Given the description of an element on the screen output the (x, y) to click on. 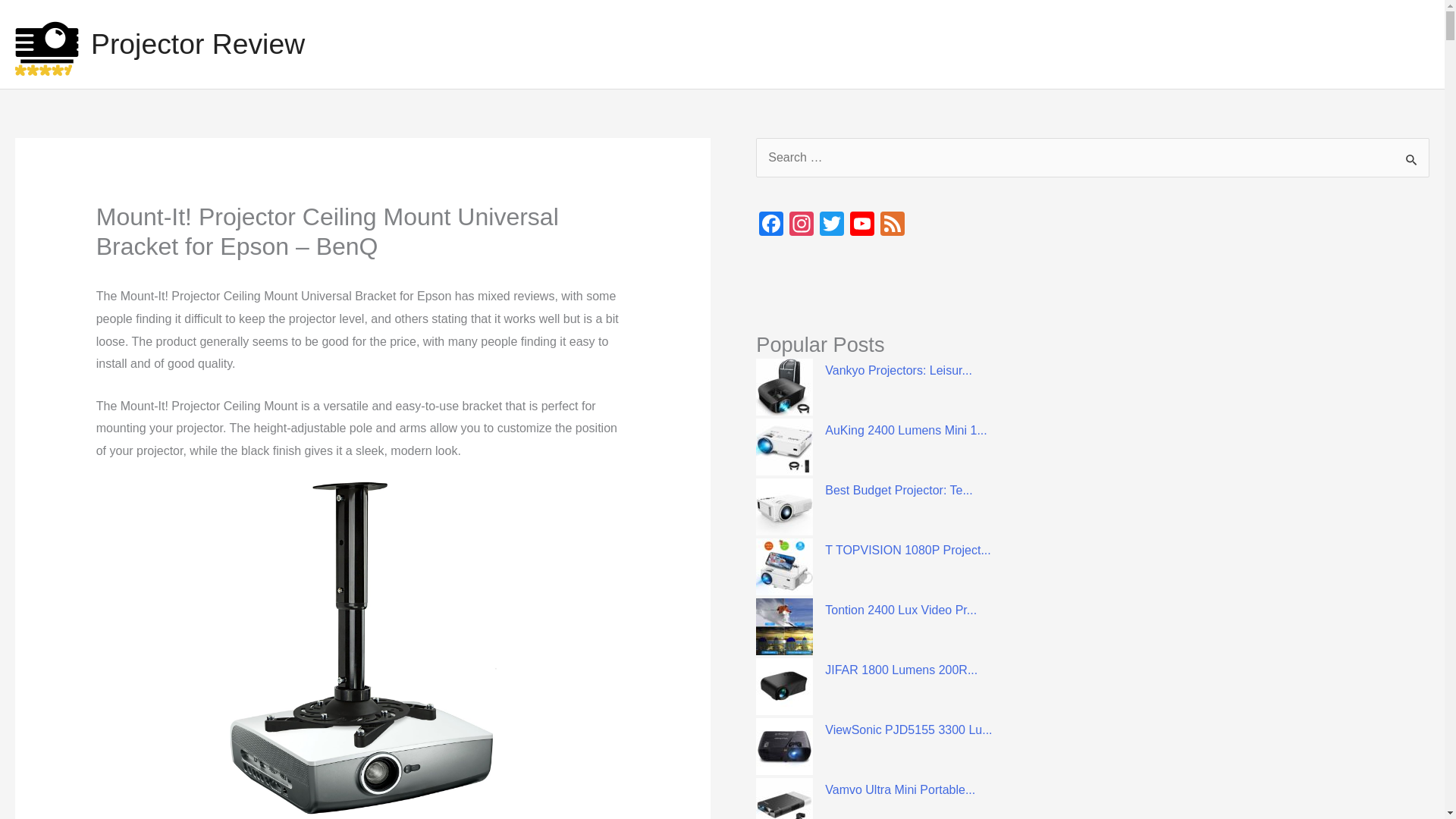
Projector Review (197, 43)
